Given the description of an element on the screen output the (x, y) to click on. 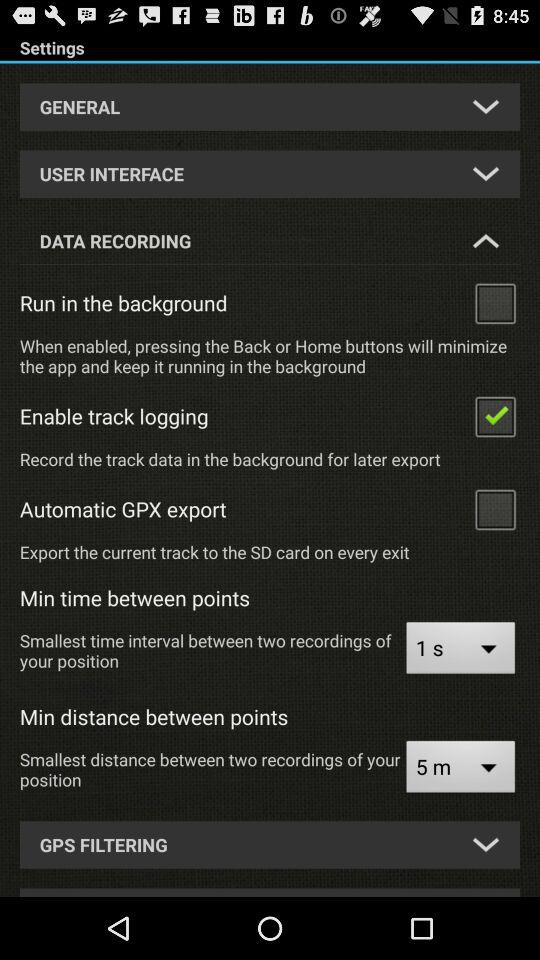
click the check box (495, 302)
